Given the description of an element on the screen output the (x, y) to click on. 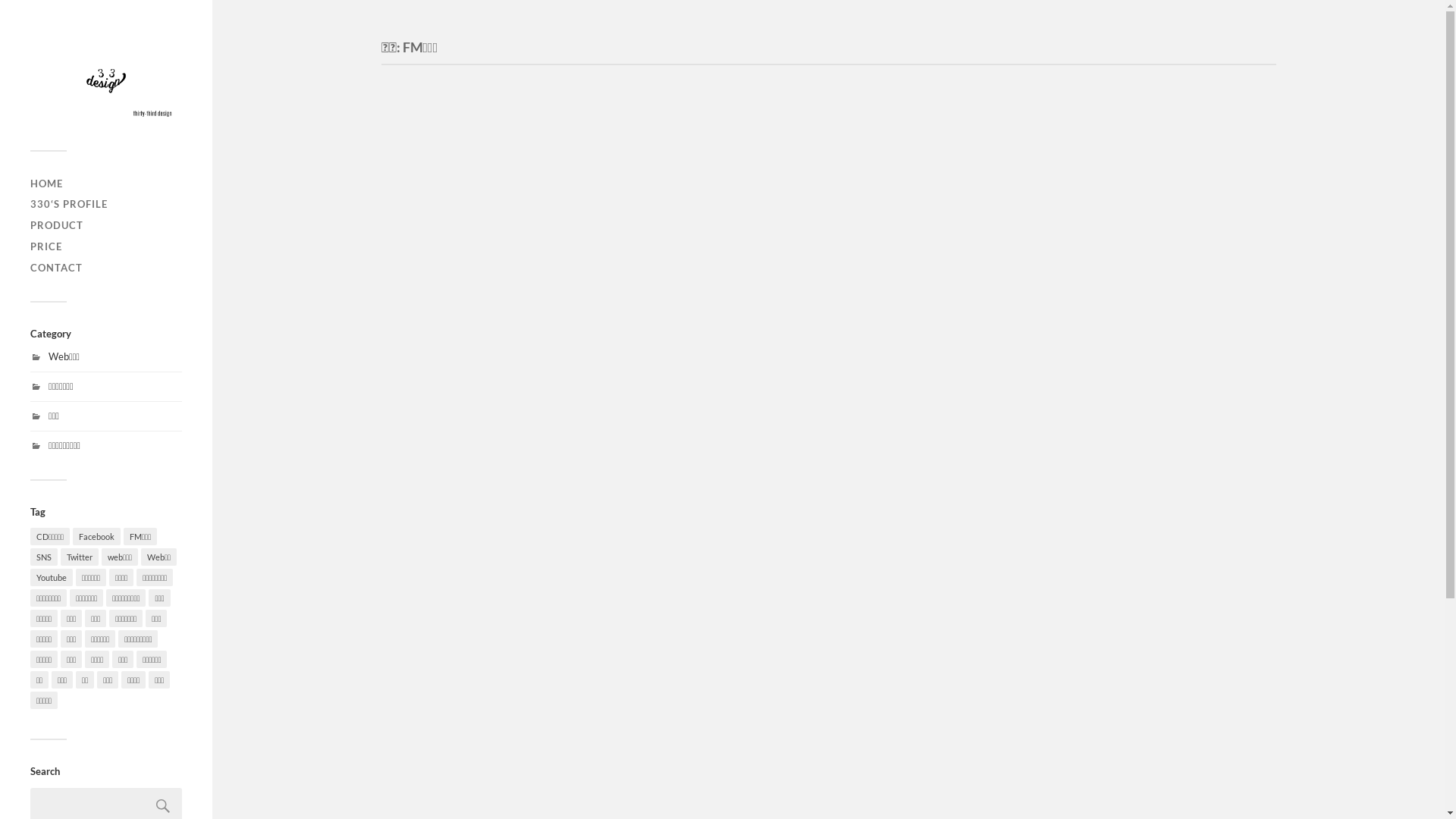
Twitter Element type: text (79, 556)
Youtube Element type: text (51, 577)
PRODUCT Element type: text (56, 225)
CONTACT Element type: text (56, 267)
SNS Element type: text (43, 556)
Facebook Element type: text (96, 536)
PRICE Element type: text (46, 246)
HOME Element type: text (46, 183)
